Given the description of an element on the screen output the (x, y) to click on. 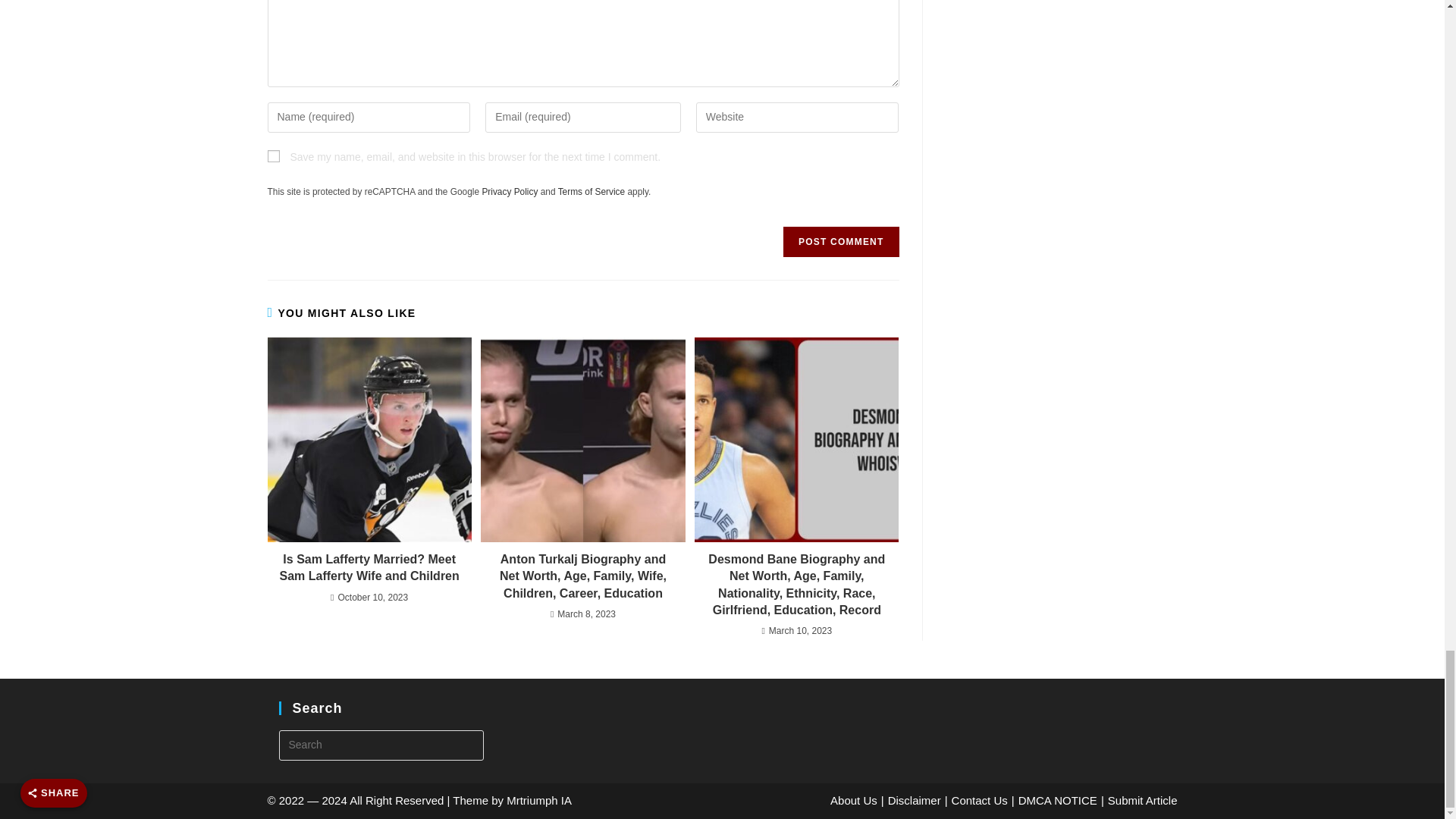
Post Comment (840, 241)
yes (272, 155)
